Given the description of an element on the screen output the (x, y) to click on. 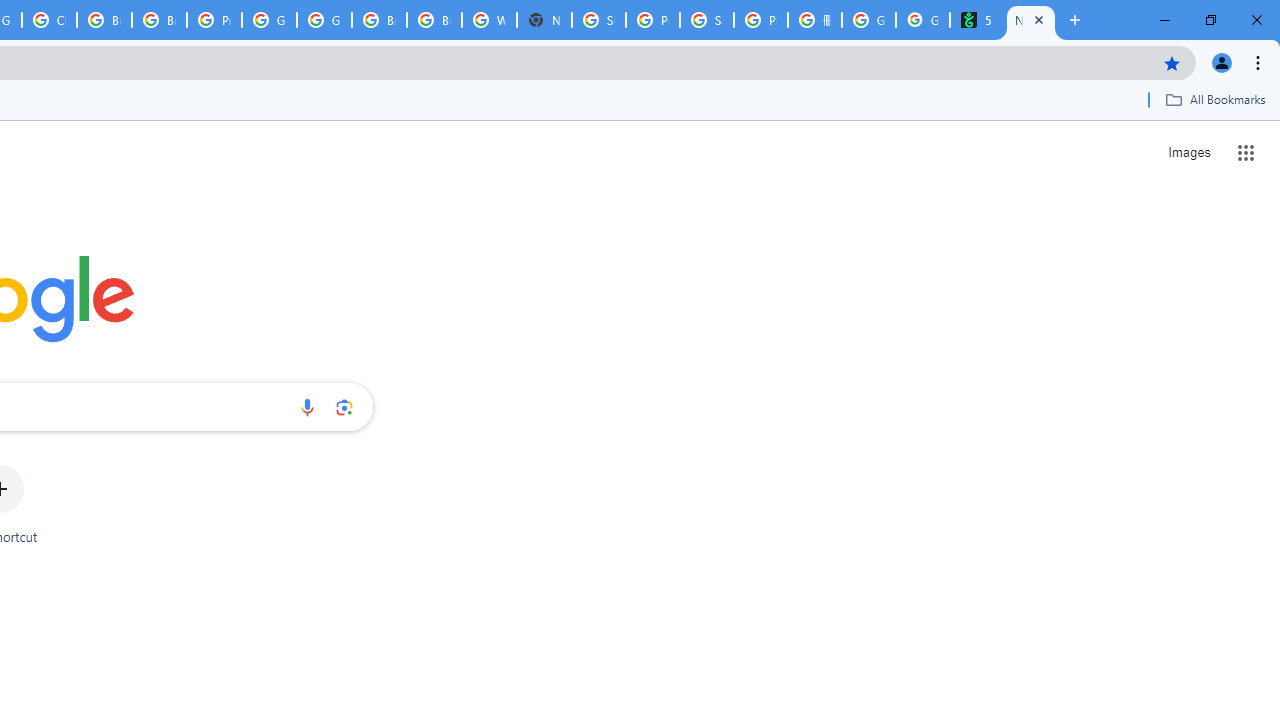
New Tab (1030, 20)
Sign in - Google Accounts (598, 20)
New Tab (544, 20)
Google Cloud Platform (268, 20)
Browse Chrome as a guest - Computer - Google Chrome Help (379, 20)
Google Cloud Platform (324, 20)
